Given the description of an element on the screen output the (x, y) to click on. 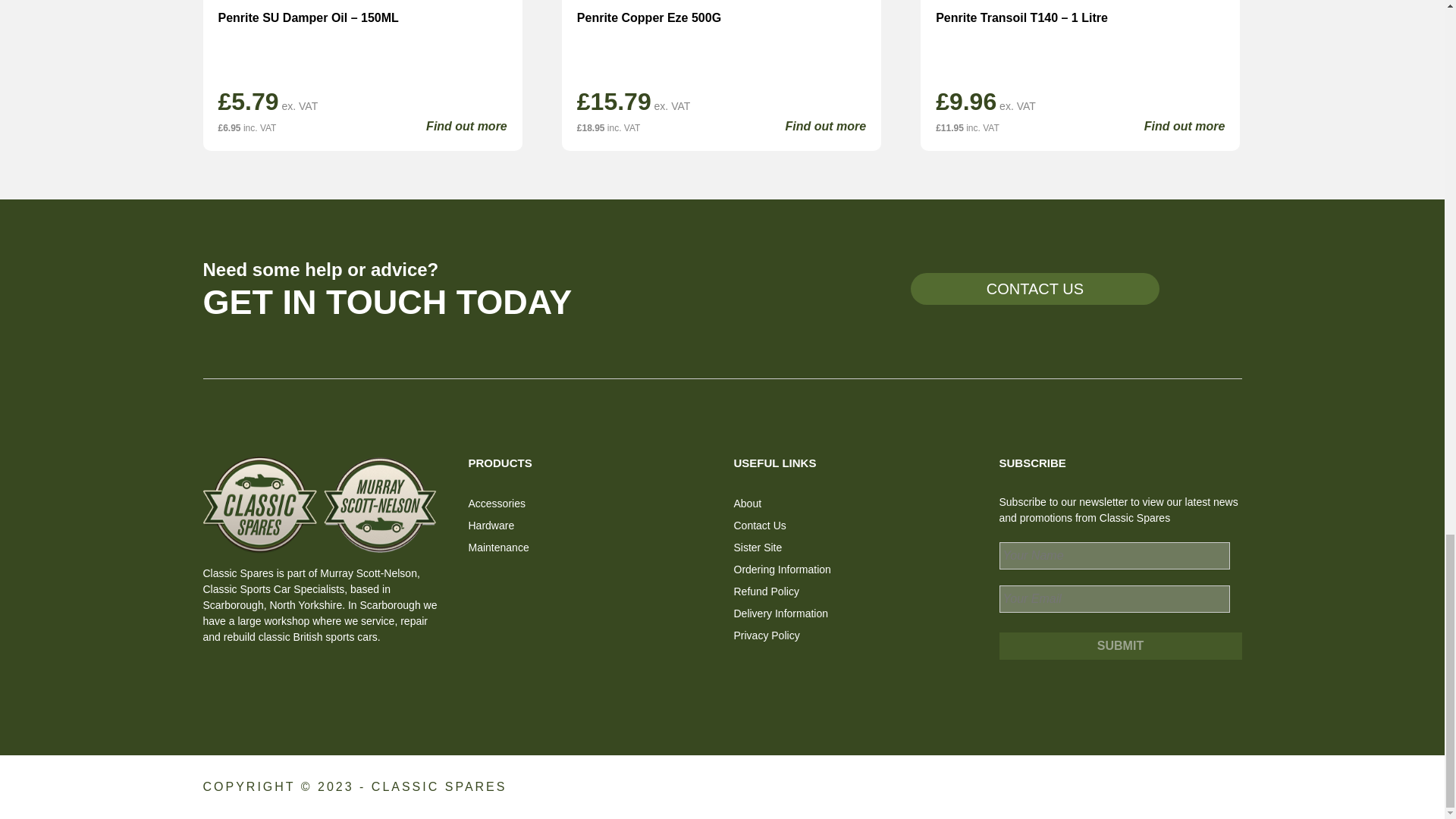
Hardware (491, 525)
Maintenance (498, 547)
About (747, 503)
Contact Us (759, 525)
Accessories (496, 503)
Submit (1119, 646)
Sister Site (758, 547)
CONTACT US (1034, 288)
